Given the description of an element on the screen output the (x, y) to click on. 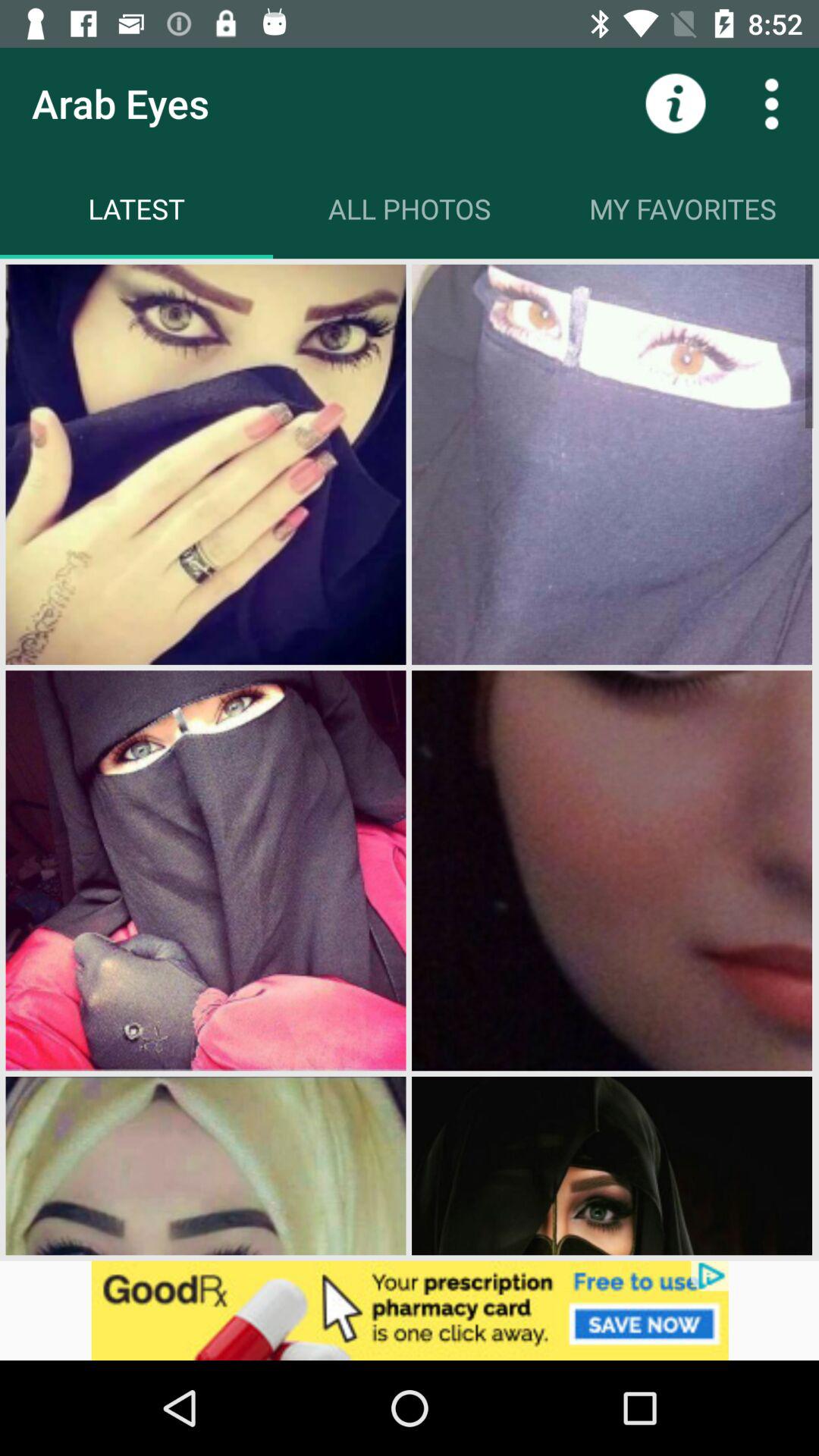
to see other options (771, 103)
